Given the description of an element on the screen output the (x, y) to click on. 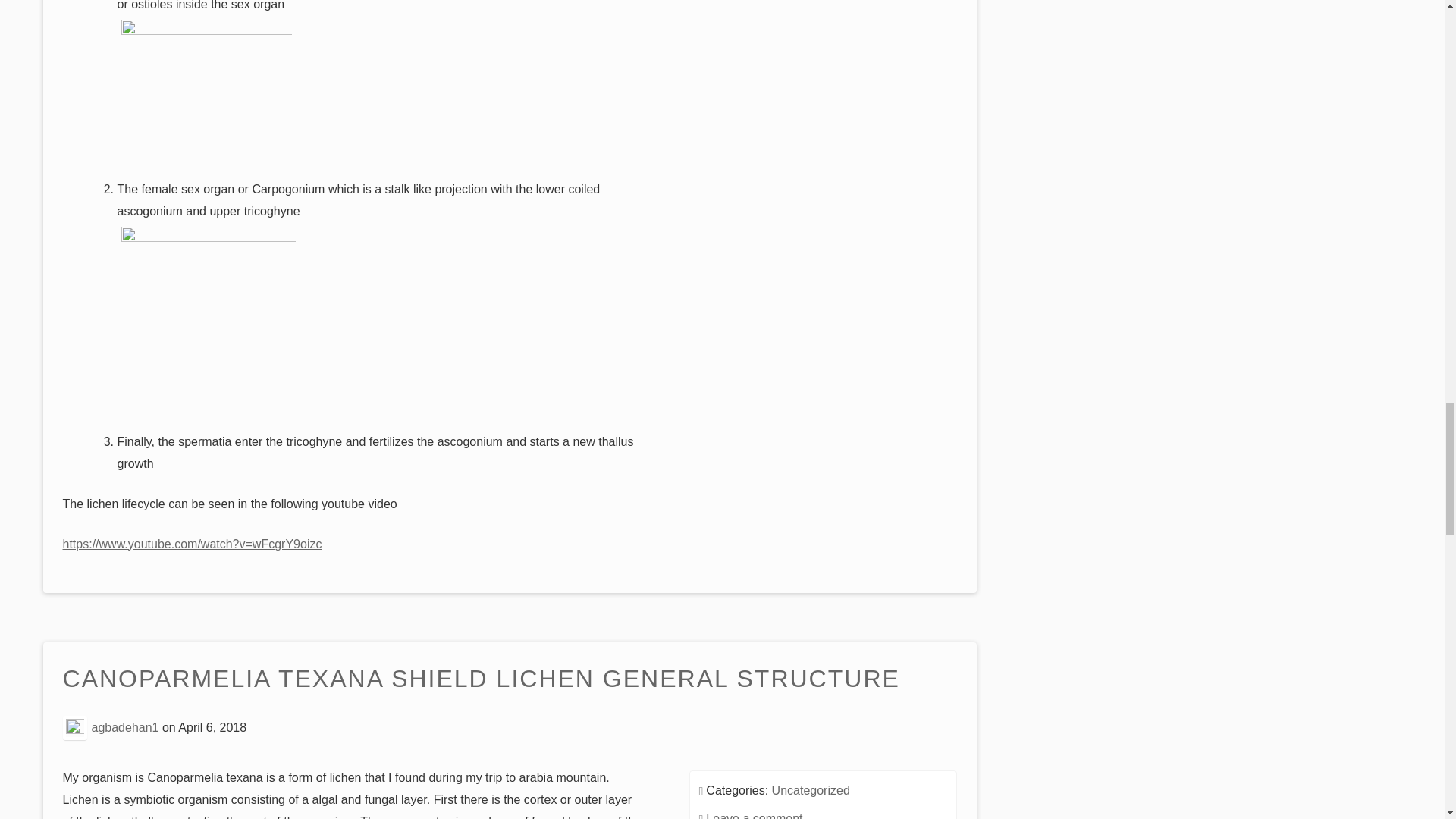
Uncategorized (810, 789)
agbadehan1 (124, 727)
CANOPARMELIA TEXANA SHIELD LICHEN GENERAL STRUCTURE (480, 680)
Leave a comment (754, 815)
